Given the description of an element on the screen output the (x, y) to click on. 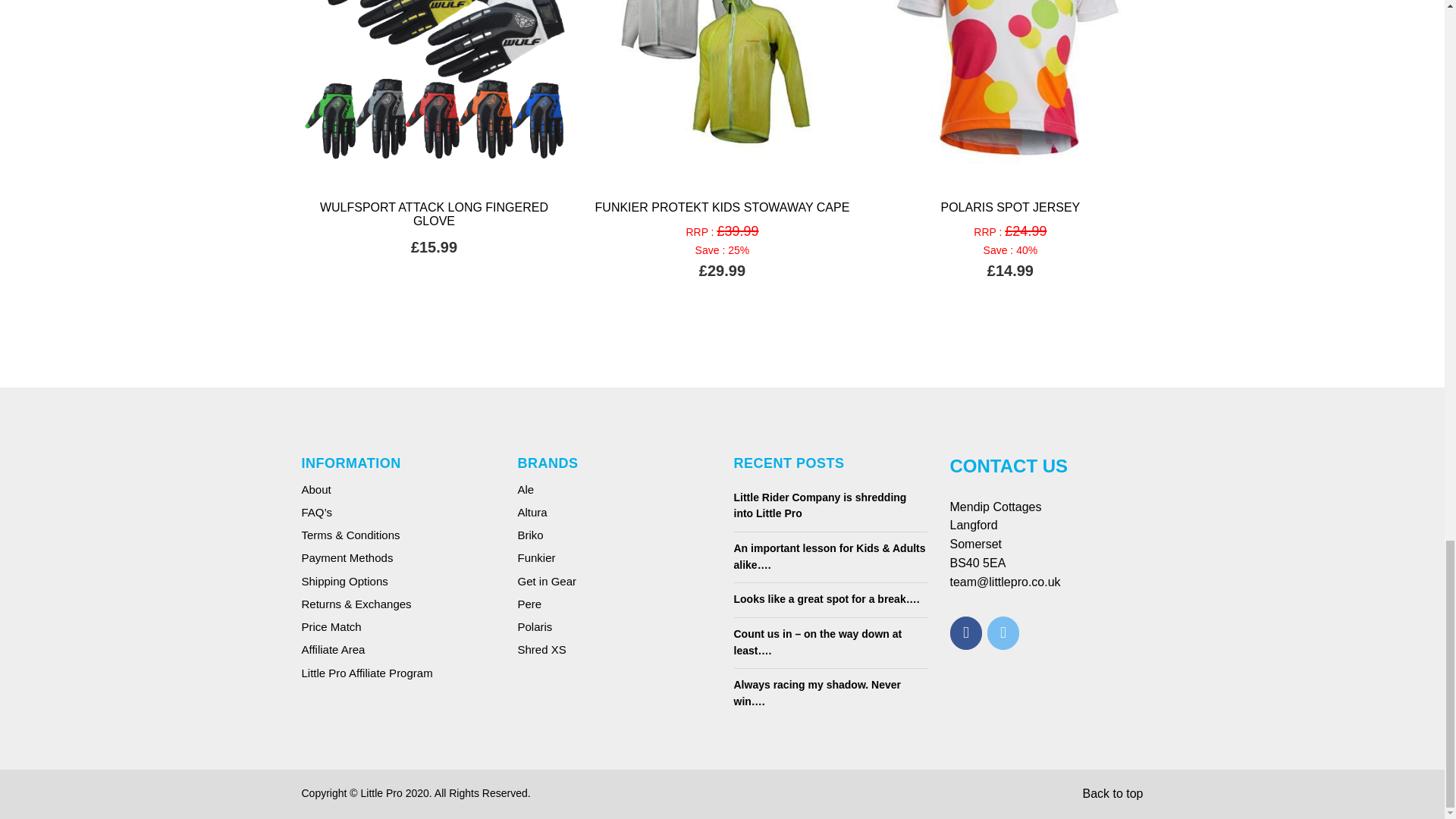
Like us! (965, 633)
Follow us! (1003, 633)
